Given the description of an element on the screen output the (x, y) to click on. 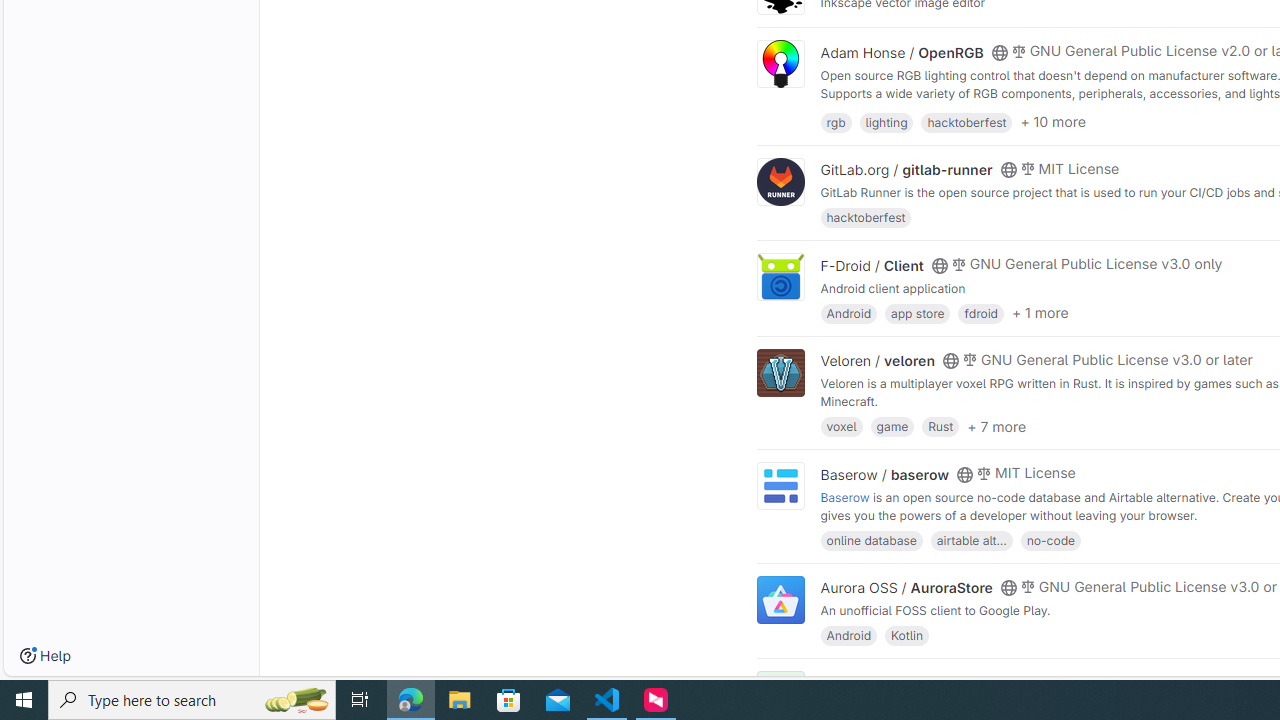
fdroid (980, 312)
online database (871, 539)
Baserow / baserow (884, 474)
Android (848, 634)
game (892, 426)
no-code (1050, 539)
Rust (940, 426)
Veloren / veloren (877, 361)
lighting (886, 120)
+ 10 more (1053, 121)
hacktoberfest (866, 217)
Class: s16 (999, 683)
Class: s14 gl-mr-2 (1018, 681)
+ 7 more (996, 425)
Kotlin (907, 634)
